Given the description of an element on the screen output the (x, y) to click on. 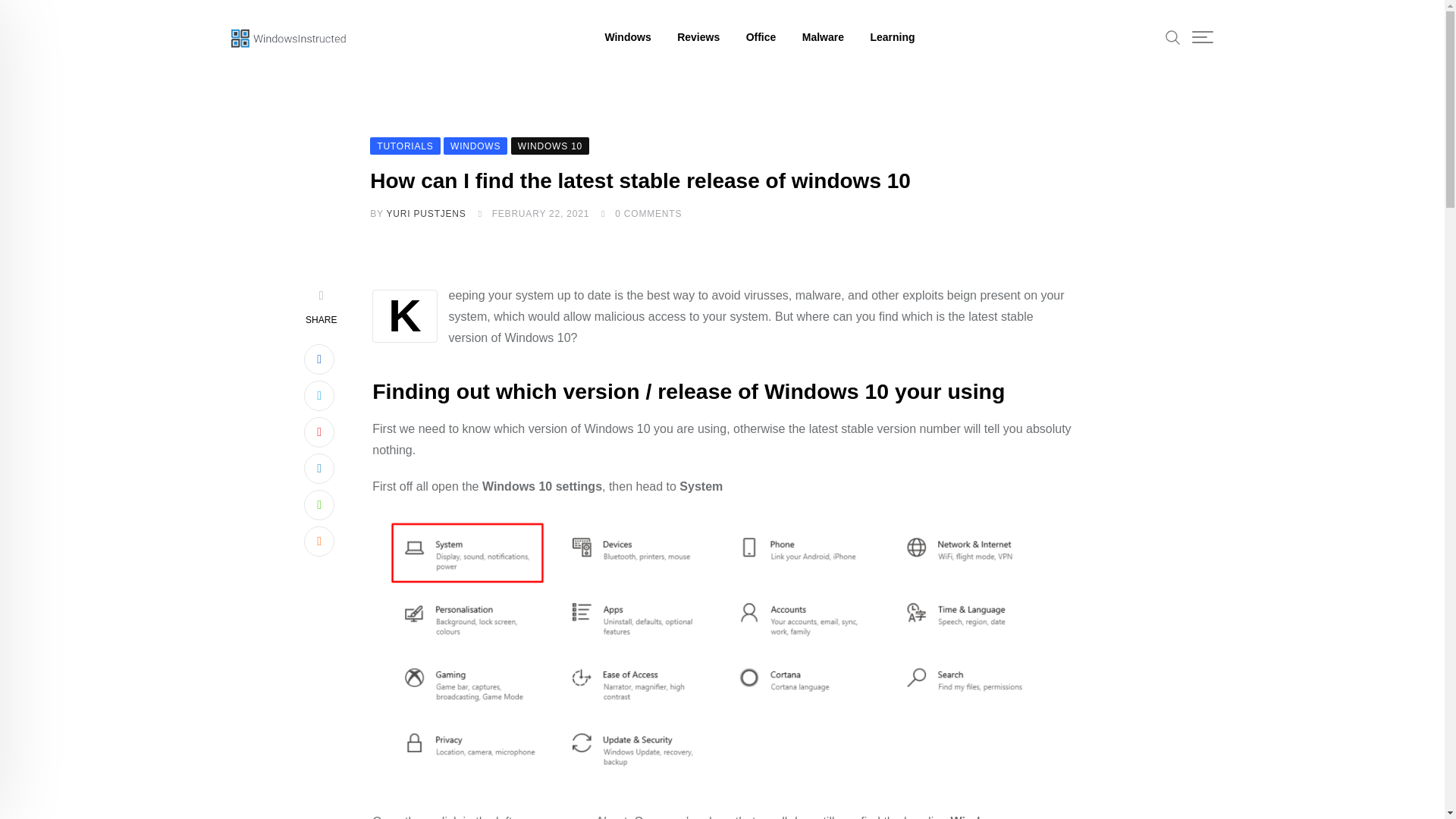
YURI PUSTJENS (426, 213)
TUTORIALS (404, 144)
Windows (627, 37)
Learning (892, 37)
Whatsapp (319, 504)
WINDOWS 10 (550, 144)
Posts by Yuri Pustjens (426, 213)
Youtube (319, 431)
Search (1173, 36)
Cloud (319, 541)
WINDOWS (475, 144)
LinkedIn (319, 468)
